Given the description of an element on the screen output the (x, y) to click on. 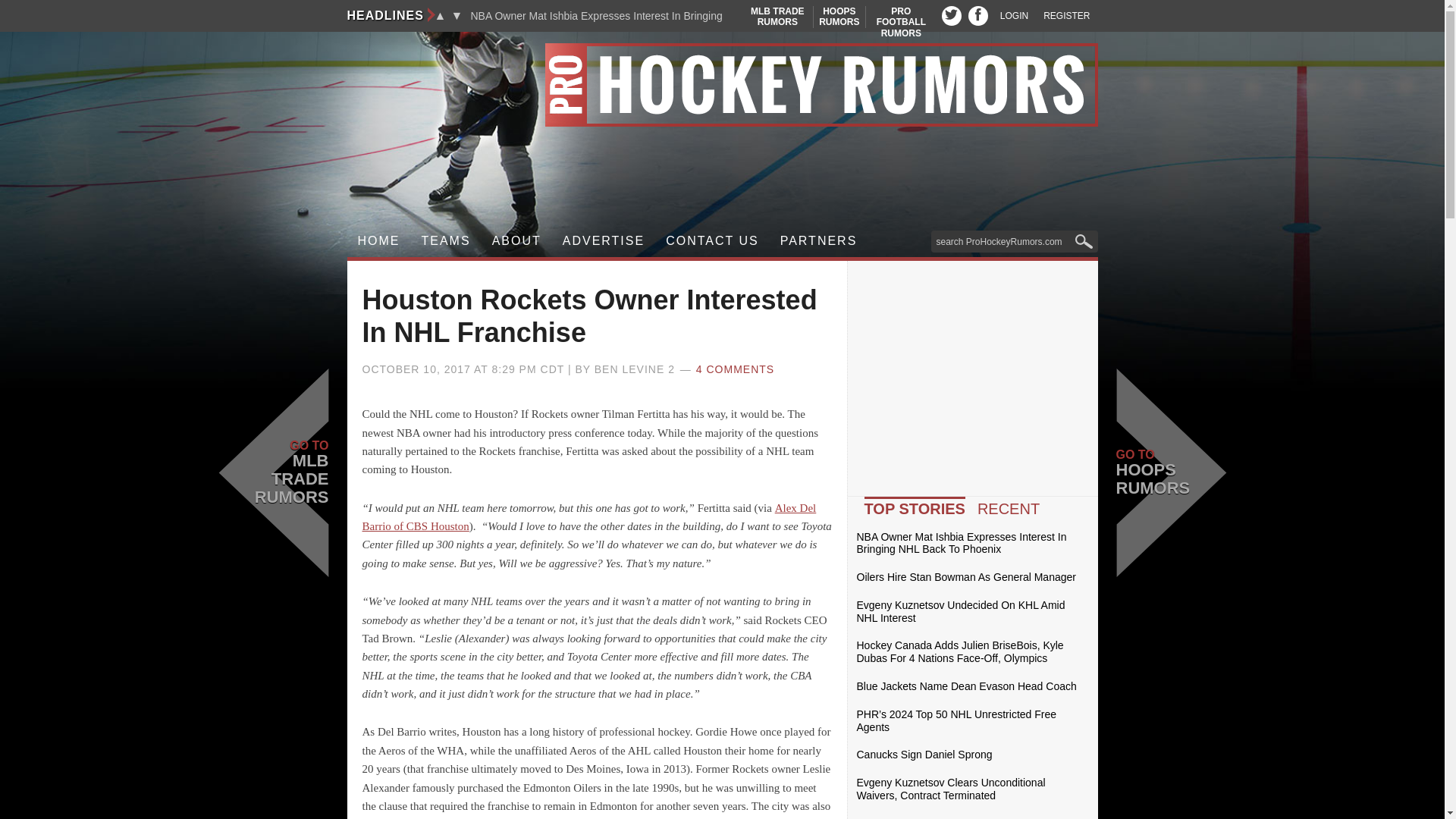
Pro Hockey Rumors (722, 84)
REGISTER (838, 16)
Twitter profile (1066, 15)
HOME (951, 15)
Next (378, 241)
FB profile (456, 15)
LOGIN (901, 21)
Previous (978, 15)
Search (1013, 15)
TEAMS (439, 15)
